Given the description of an element on the screen output the (x, y) to click on. 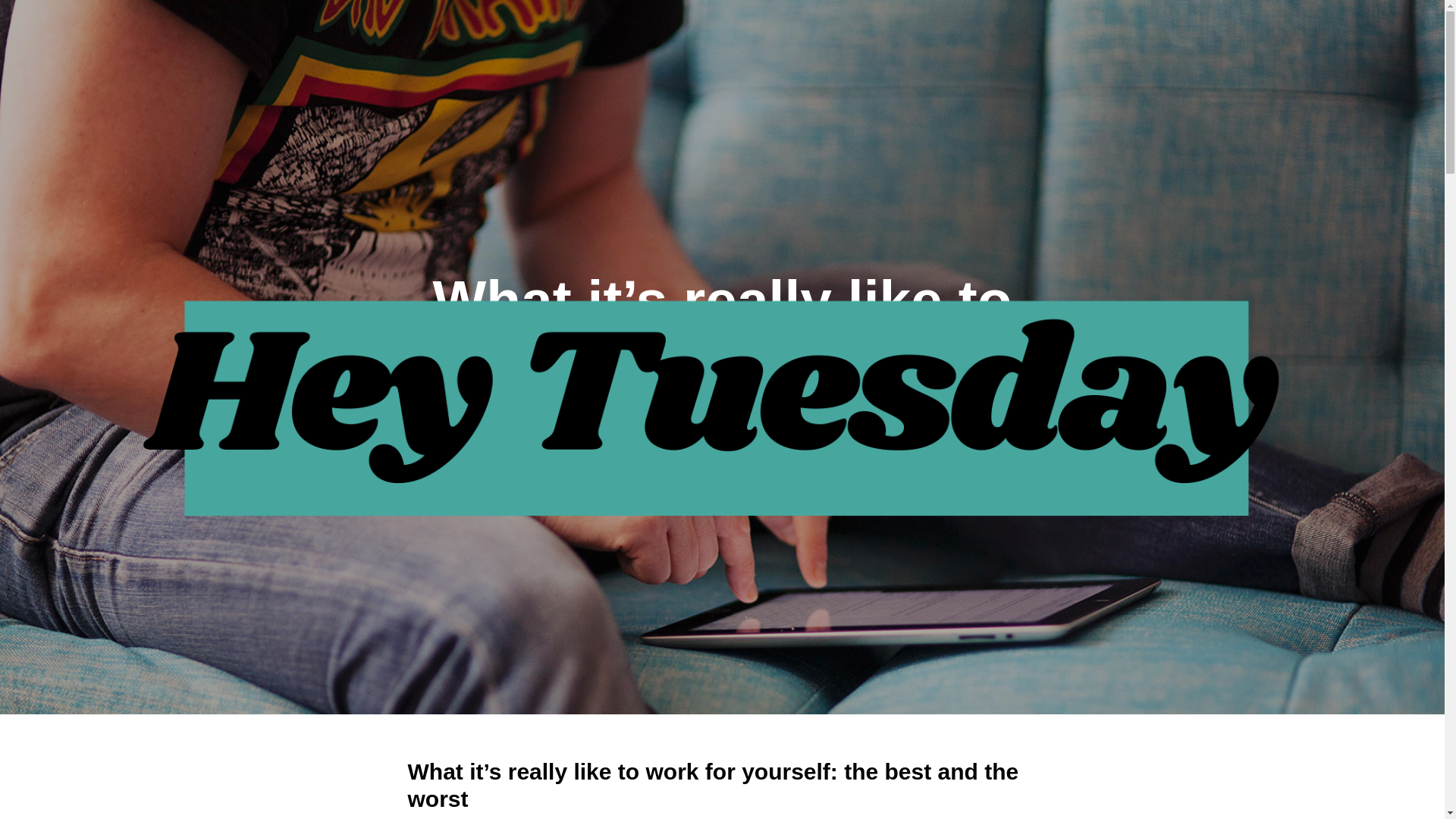
BUSINESS HEADSHOTS (780, 470)
SASKIA NELSON (560, 470)
PERSONAL BRAND (893, 470)
BUSINESS (687, 470)
View all posts by Saskia Nelson (560, 470)
